Given the description of an element on the screen output the (x, y) to click on. 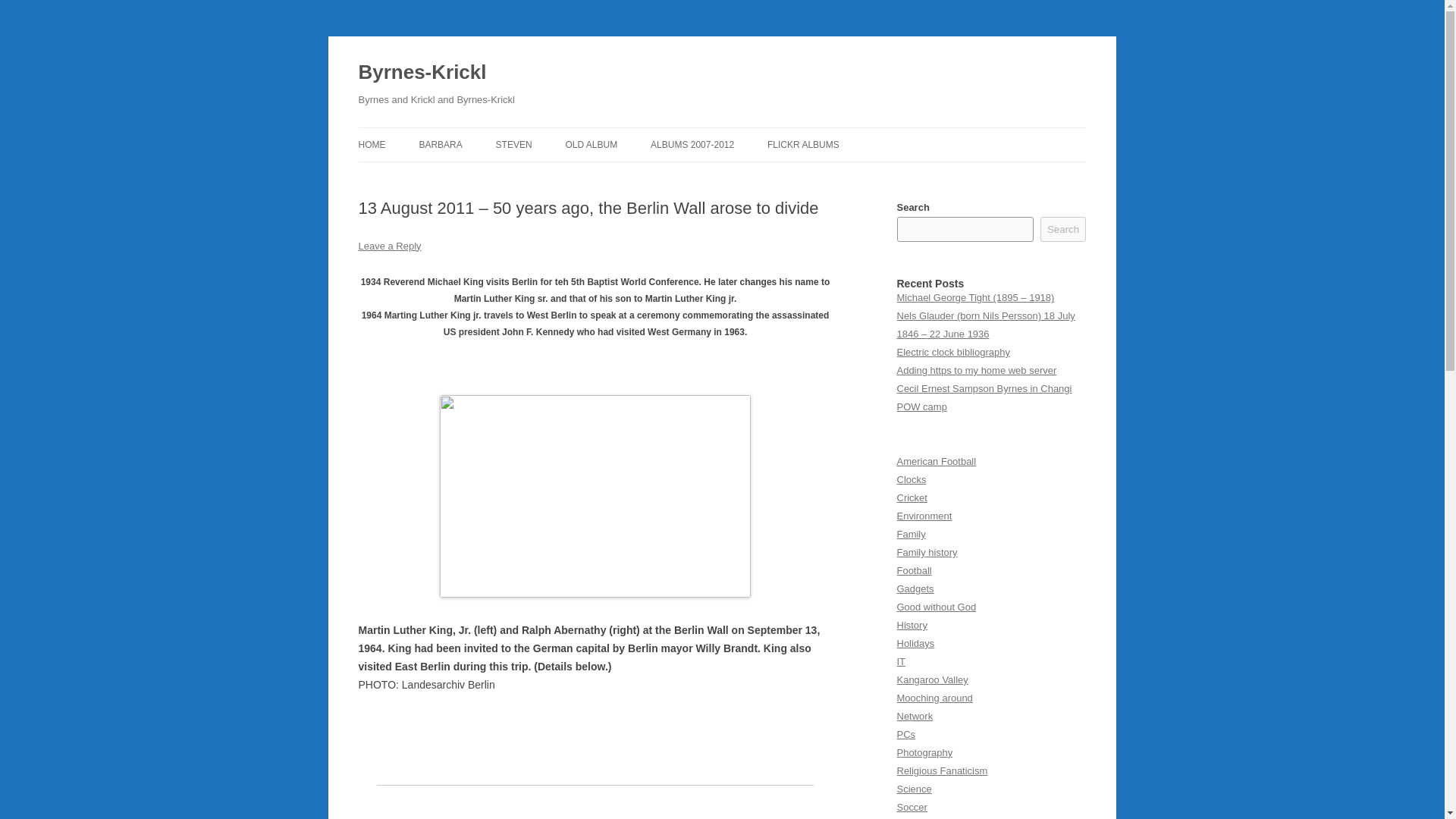
STEVEN (514, 144)
Mooching around (934, 697)
Search (1063, 229)
Family (910, 533)
Clocks (911, 479)
Flickr Albums (803, 144)
Football (913, 570)
Family history (926, 552)
Cecil Ernest Sampson Byrnes in Changi POW camp (983, 397)
Old Album (591, 144)
Gadgets (914, 588)
Environment (924, 515)
BARBARA (440, 144)
Barbara (440, 144)
